Given the description of an element on the screen output the (x, y) to click on. 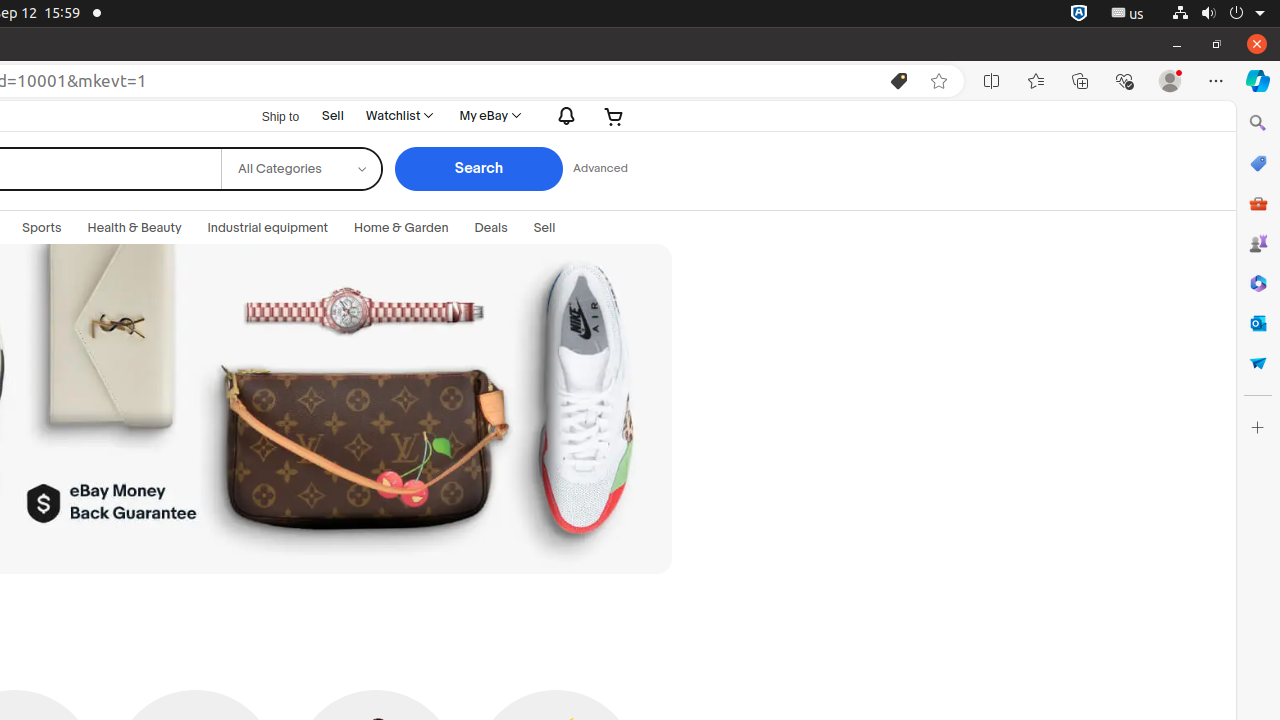
Industrial equipment Element type: link (268, 228)
Watchlist Element type: link (398, 115)
Collections Element type: push-button (1080, 81)
Home & Garden Element type: link (401, 228)
Customize Element type: push-button (1258, 428)
